Given the description of an element on the screen output the (x, y) to click on. 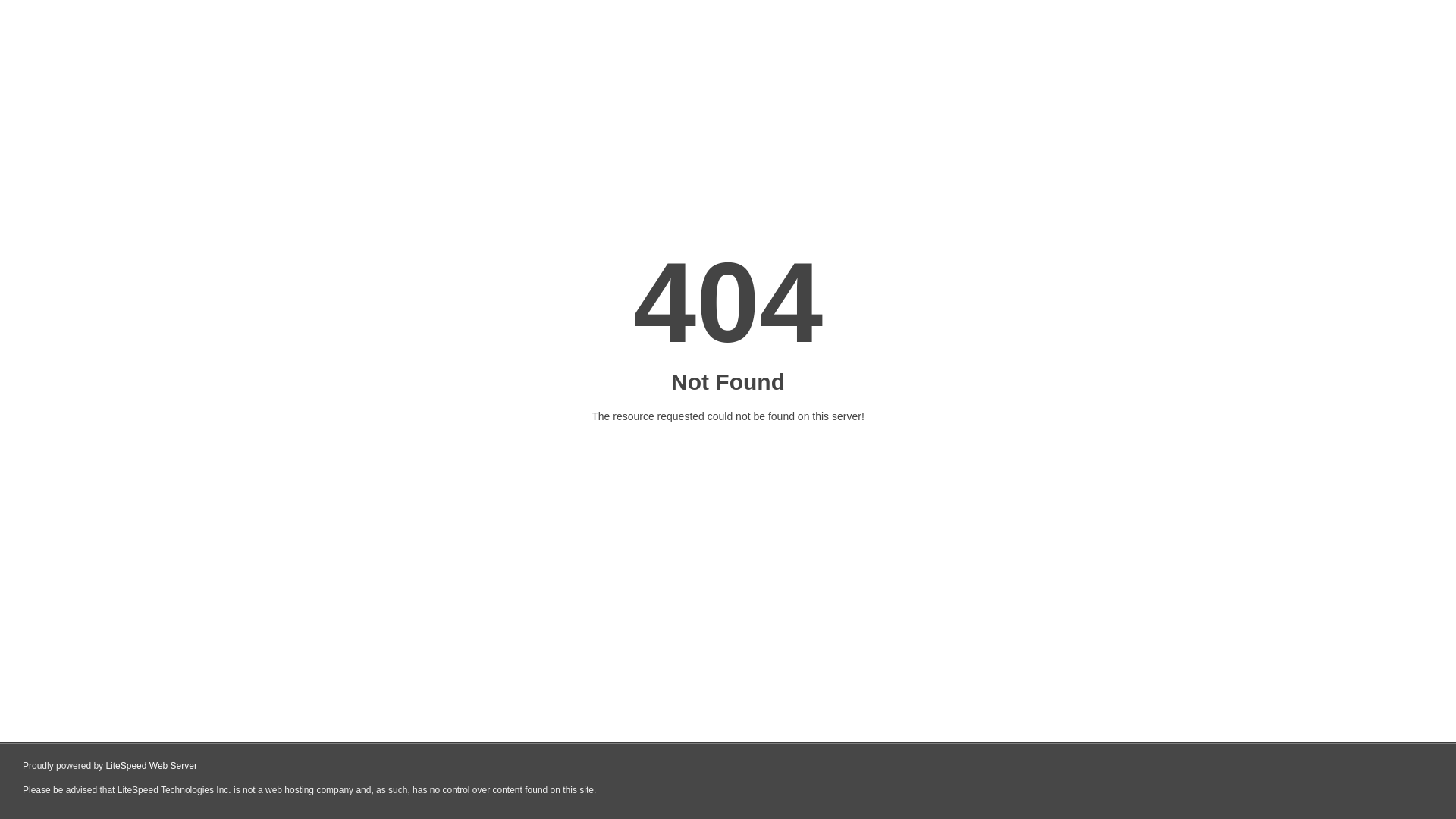
LiteSpeed Web Server Element type: text (151, 765)
